Given the description of an element on the screen output the (x, y) to click on. 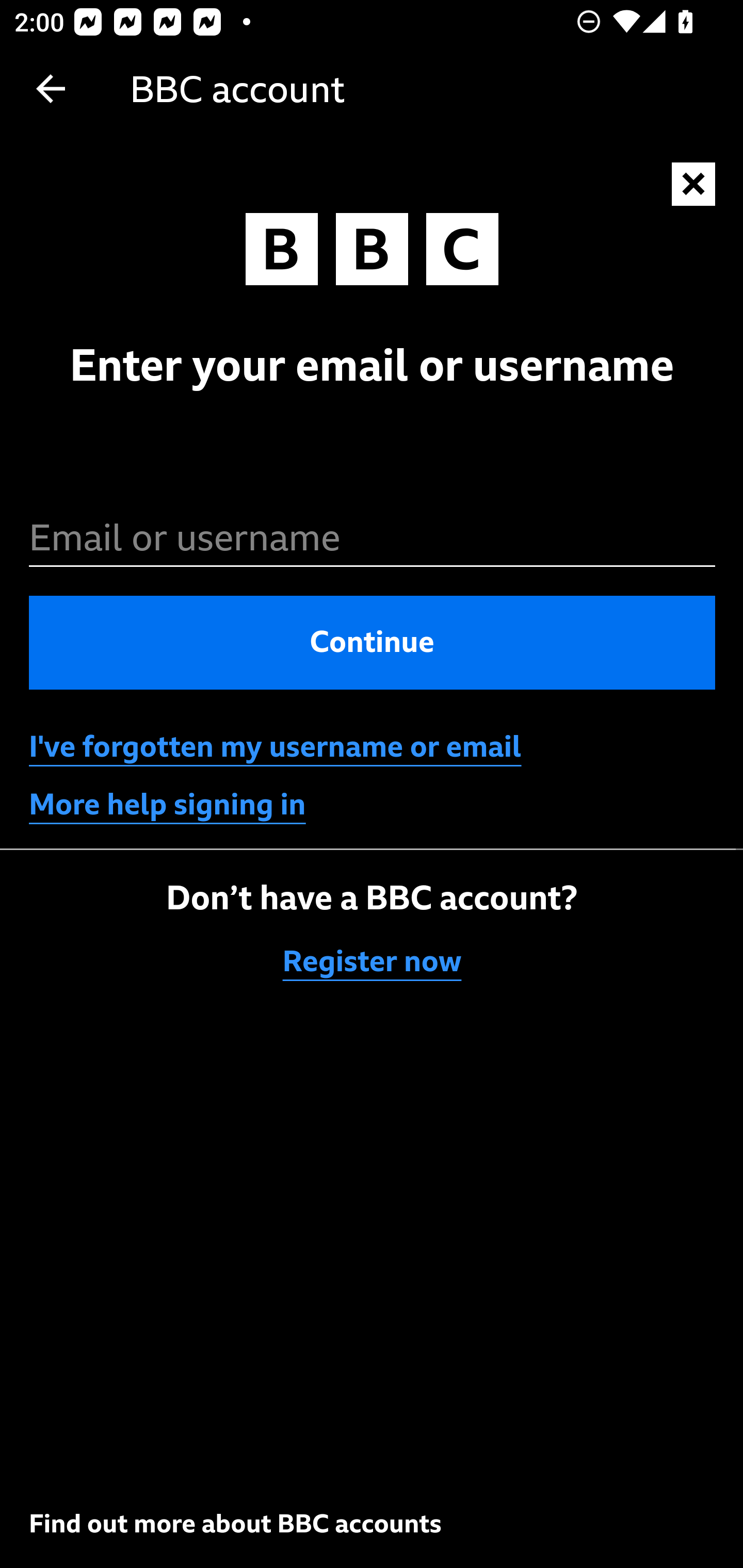
Close and return to where you originally came from (694, 184)
Go to the BBC Homepage (371, 253)
Continue (372, 641)
I've forgotten my username or email (274, 747)
More help signing in (167, 805)
Register now (372, 960)
Find out more about BBC accounts (235, 1522)
